Given the description of an element on the screen output the (x, y) to click on. 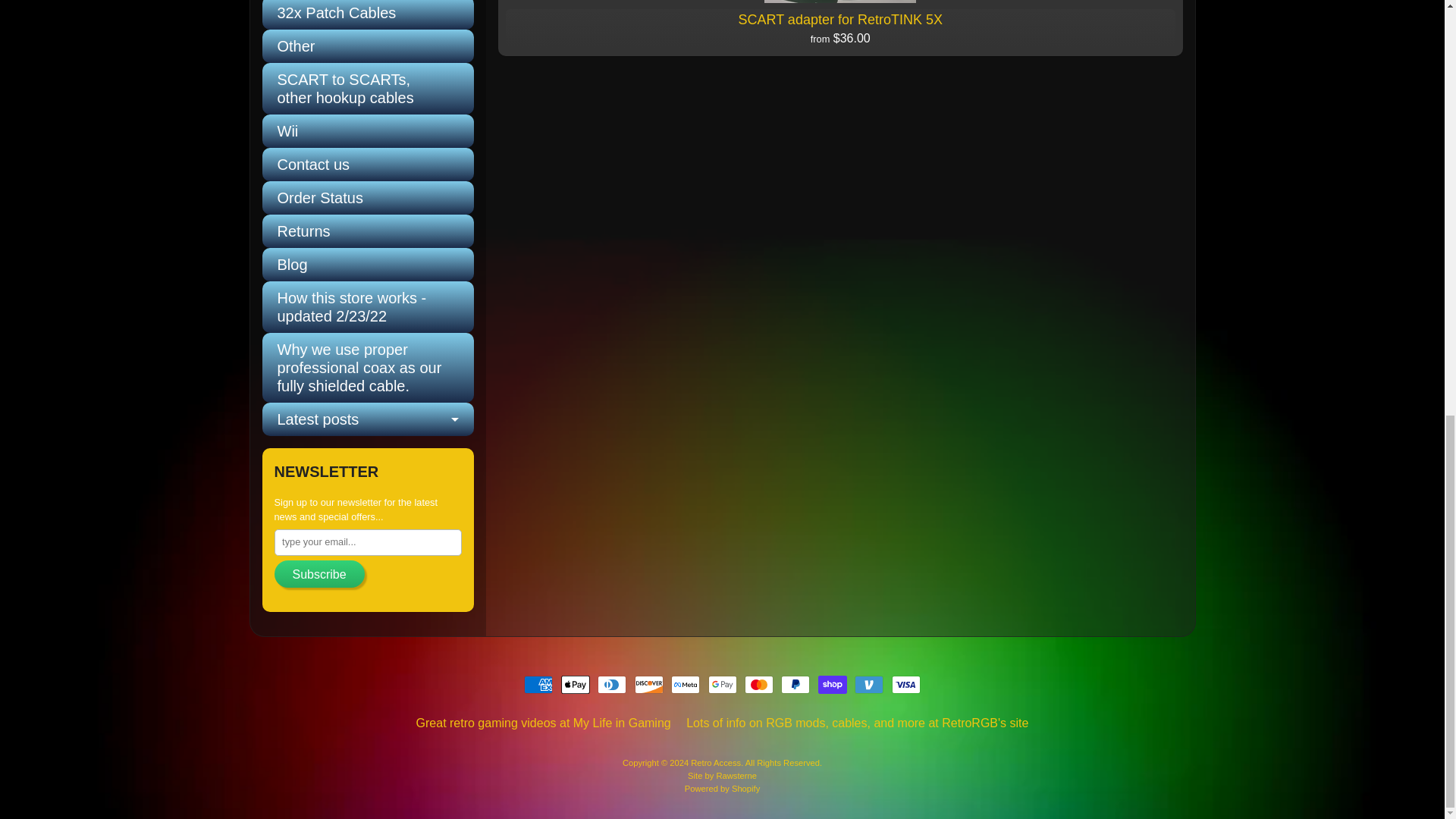
Contact us (368, 164)
32x Patch Cables (368, 14)
SCART to SCARTs, other hookup cables (368, 88)
SCART adapter for RetroTINK 5X (839, 28)
Blog (368, 264)
Shopify theme by Rawsterne (722, 775)
Other (368, 46)
Returns (368, 231)
Order Status (368, 197)
Wii (368, 131)
